Given the description of an element on the screen output the (x, y) to click on. 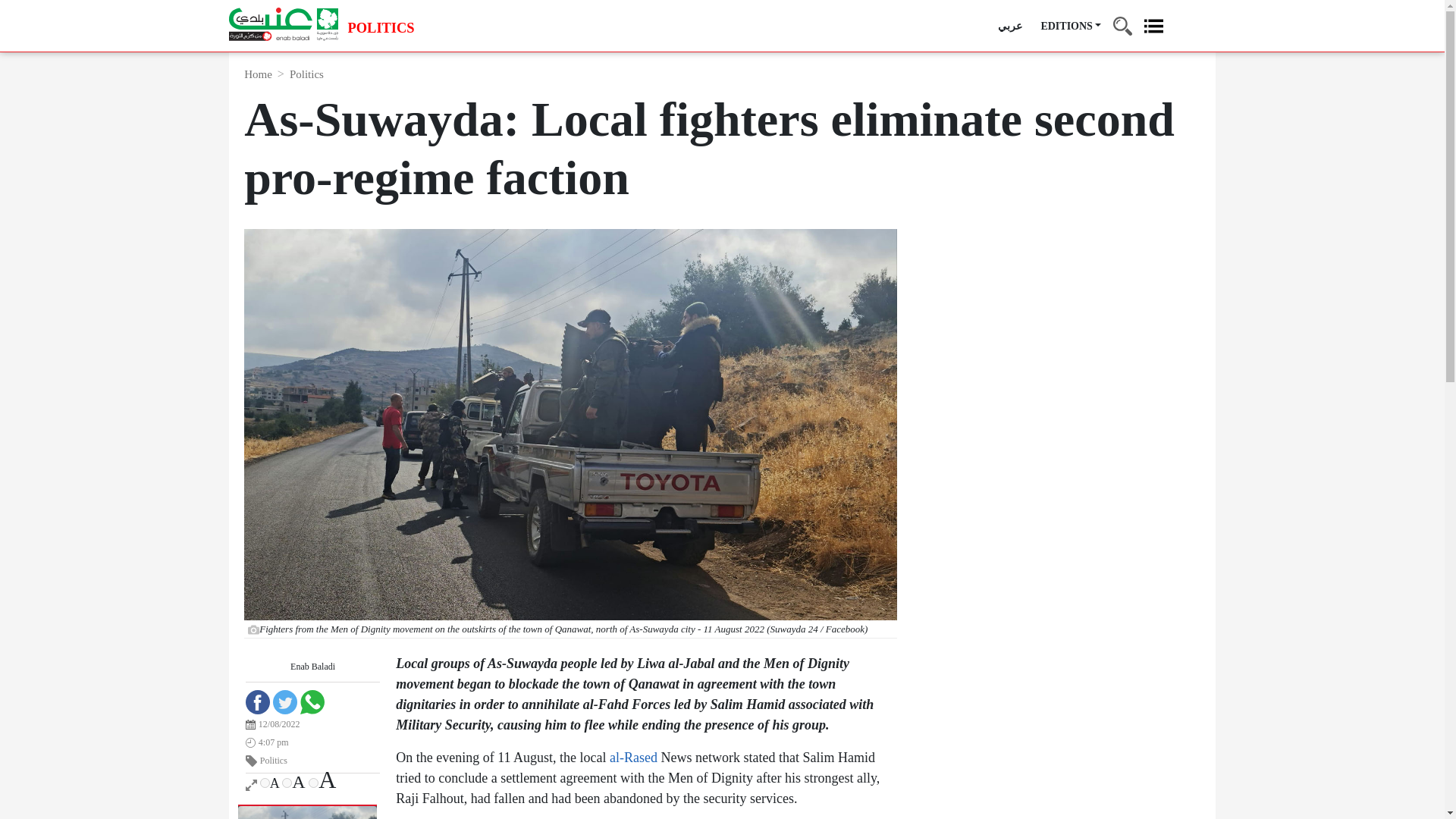
on (313, 782)
logo (282, 24)
EDITIONS (1070, 25)
POLITICS (381, 28)
on (264, 782)
on (287, 782)
